Given the description of an element on the screen output the (x, y) to click on. 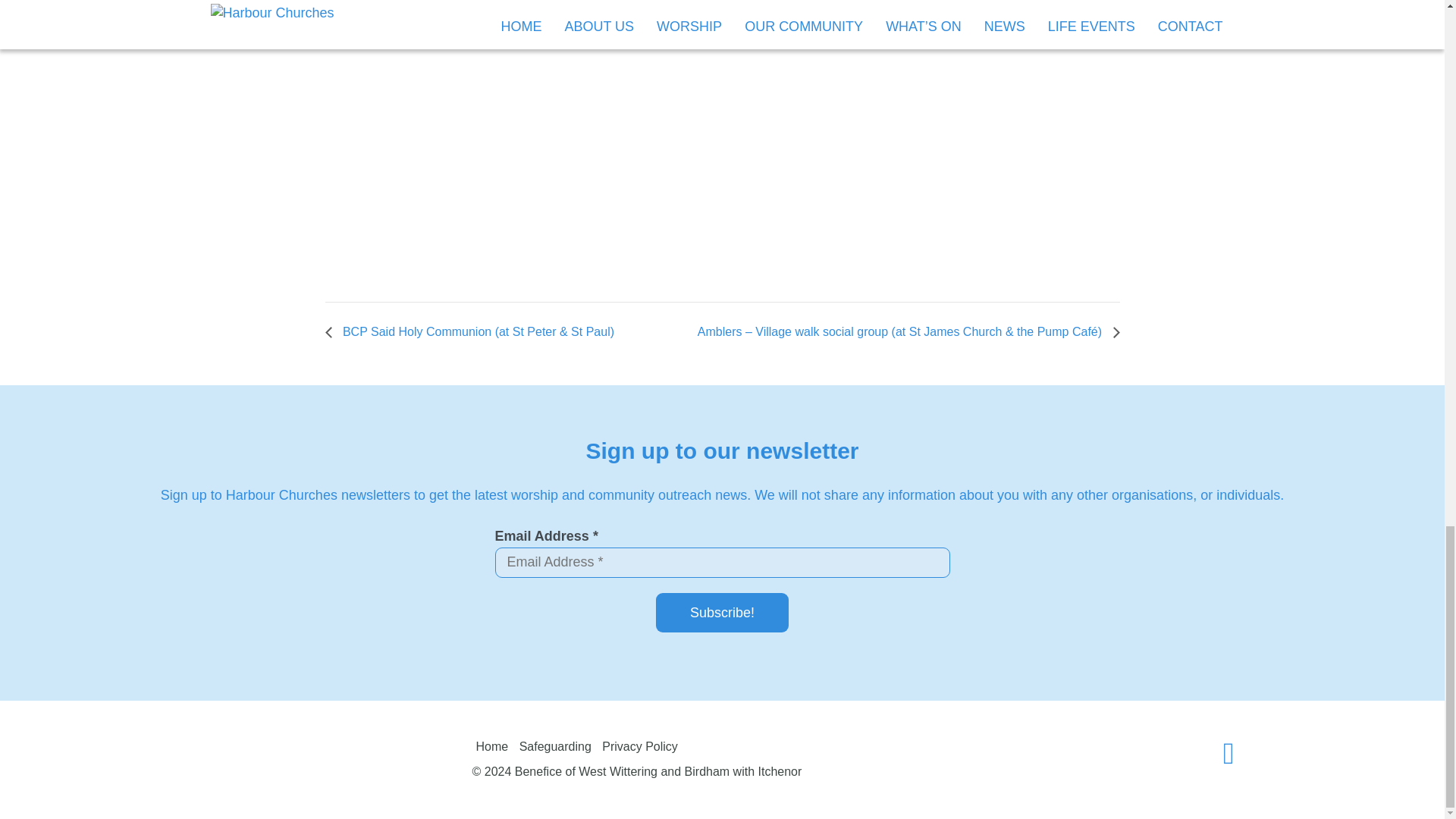
Email Address (722, 562)
Subscribe! (722, 612)
